Given the description of an element on the screen output the (x, y) to click on. 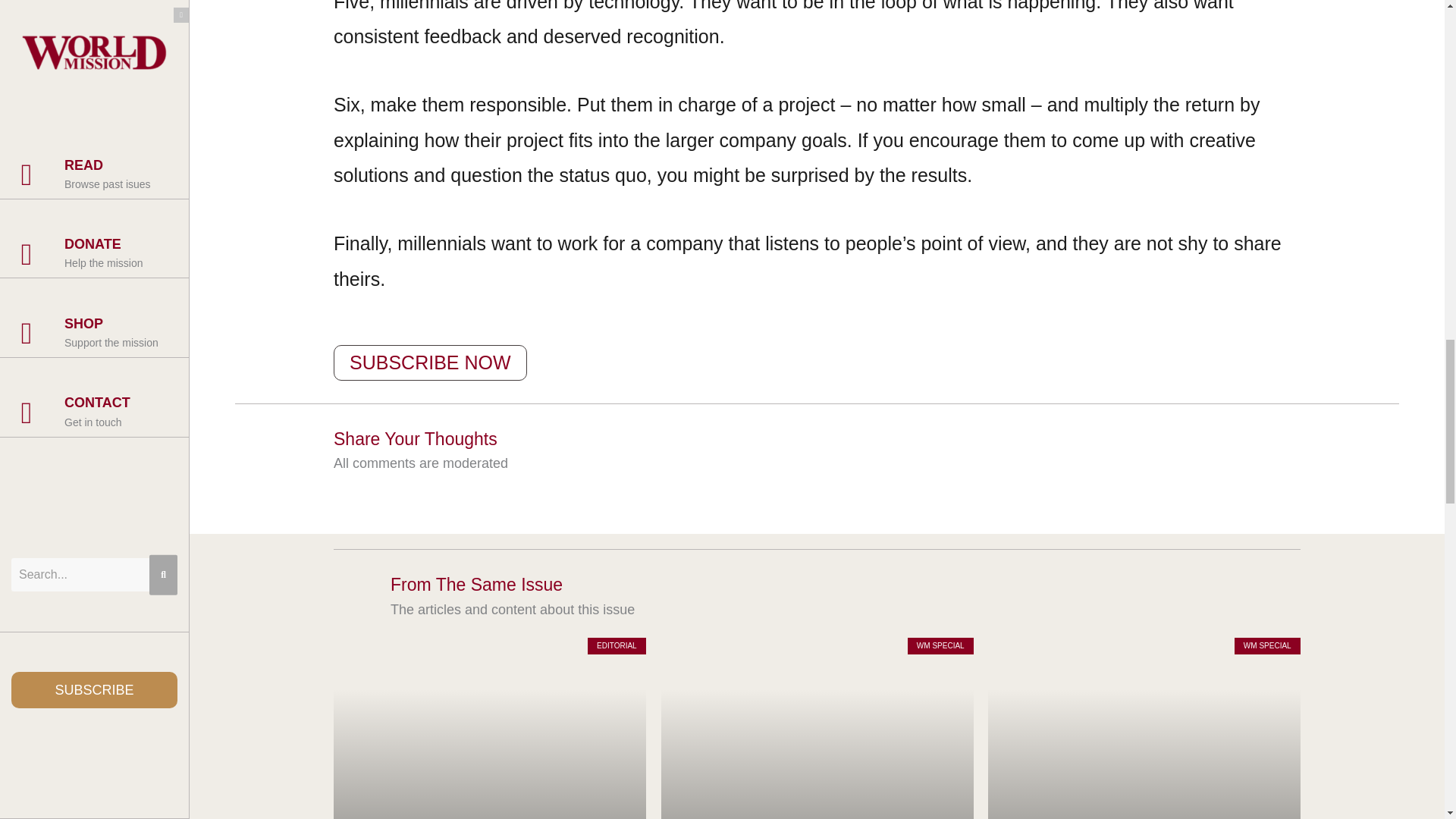
SUBSCRIBE NOW (430, 362)
